Given the description of an element on the screen output the (x, y) to click on. 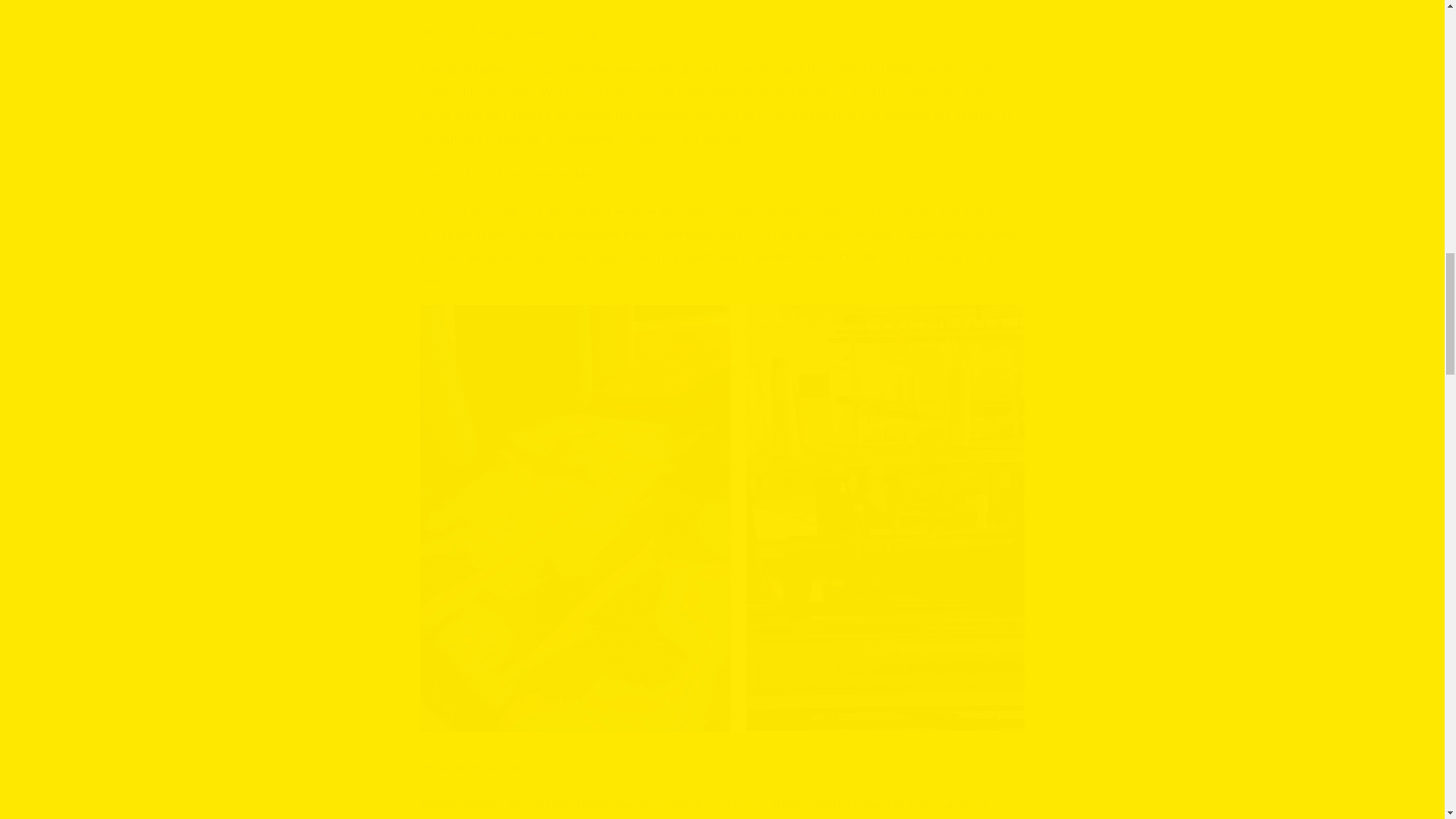
Share (722, 3)
